Given the description of an element on the screen output the (x, y) to click on. 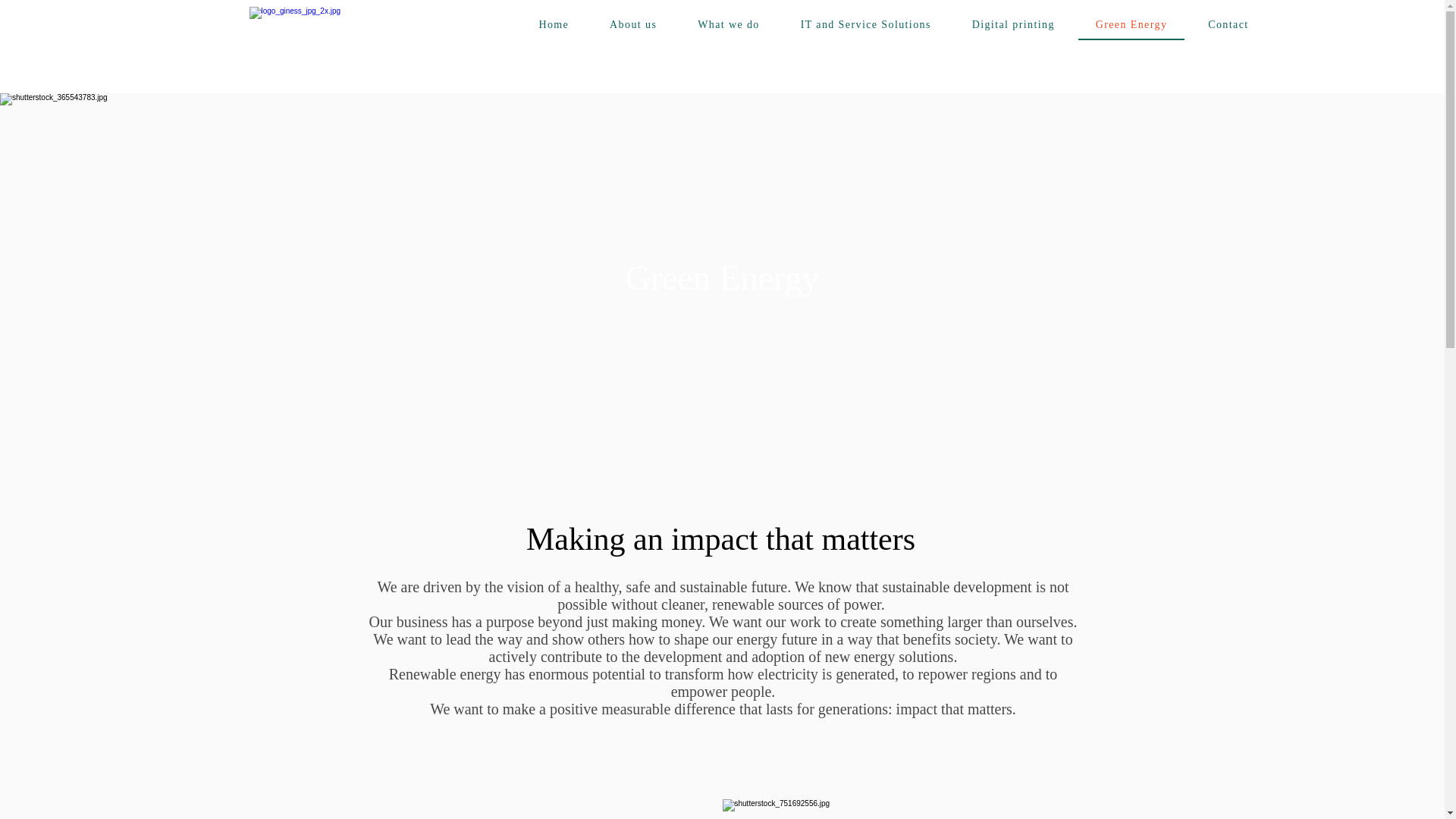
Contact (1228, 25)
Green Energy (1131, 25)
What we do (728, 25)
Home (553, 25)
About us (633, 25)
Digital printing (1013, 25)
IT and Service Solutions (866, 25)
